Given the description of an element on the screen output the (x, y) to click on. 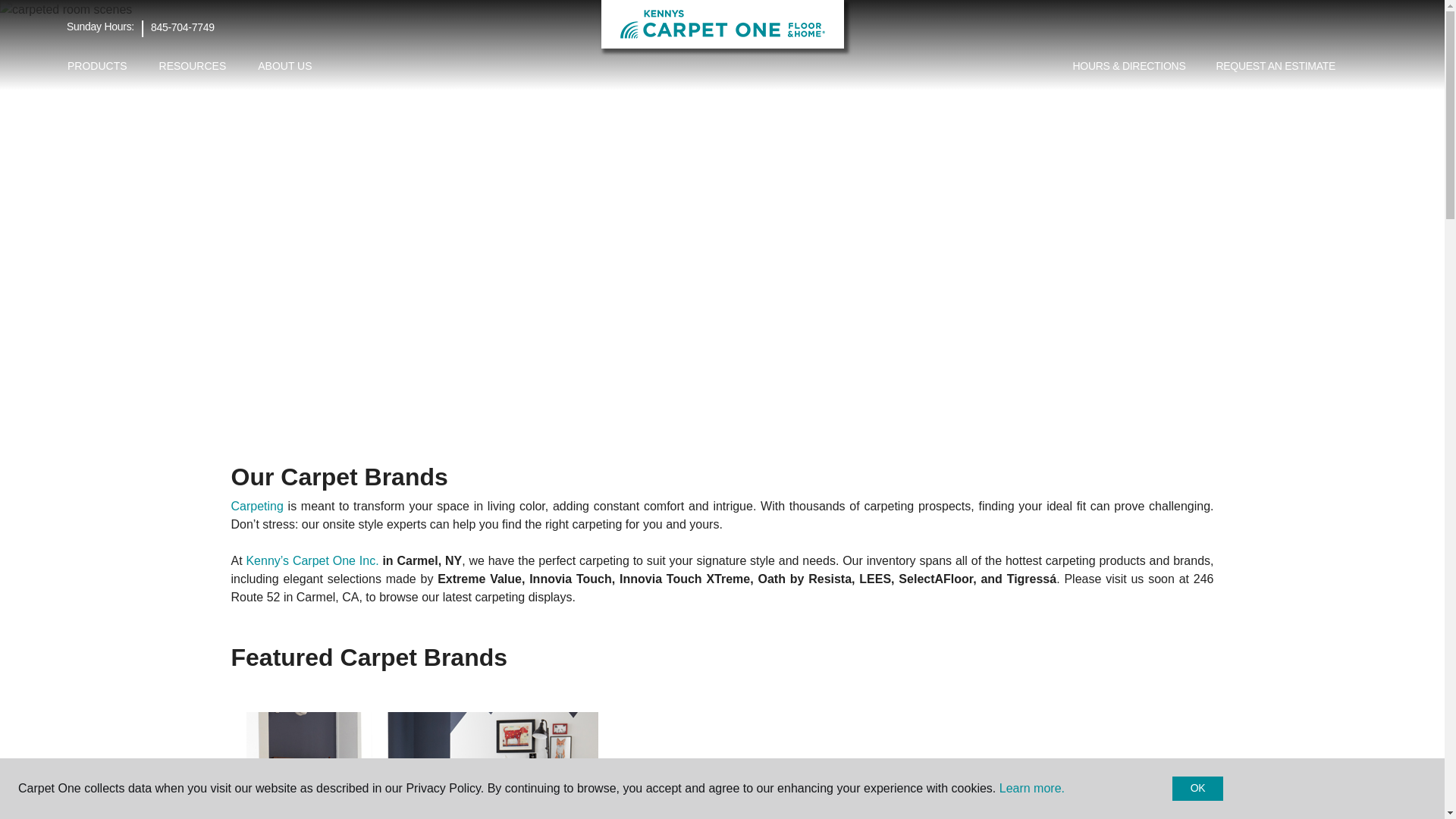
ABOUT US (284, 66)
PRODUCTS (97, 66)
RESOURCES (193, 66)
845-704-7749 (182, 27)
REQUEST AN ESTIMATE (1276, 66)
